Given the description of an element on the screen output the (x, y) to click on. 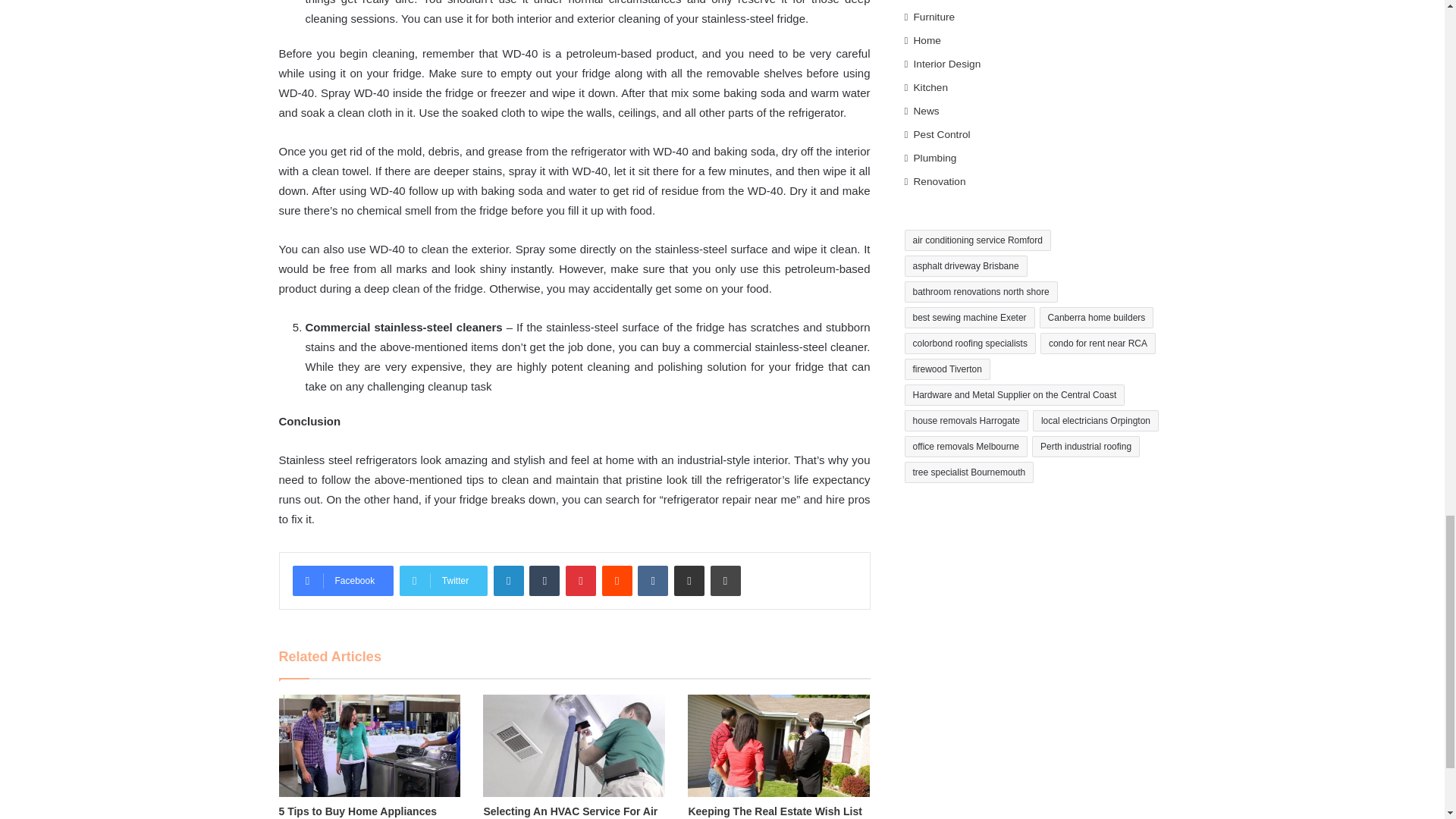
Print (725, 580)
Facebook (343, 580)
LinkedIn (508, 580)
Reddit (616, 580)
Keeping The Real Estate Wish List On The Right Track (774, 812)
Reddit (616, 580)
Pinterest (580, 580)
Pinterest (580, 580)
Tumblr (544, 580)
VKontakte (652, 580)
Share via Email (689, 580)
Twitter (442, 580)
Twitter (442, 580)
5 Tips to Buy Home Appliances Online (358, 812)
Facebook (343, 580)
